Given the description of an element on the screen output the (x, y) to click on. 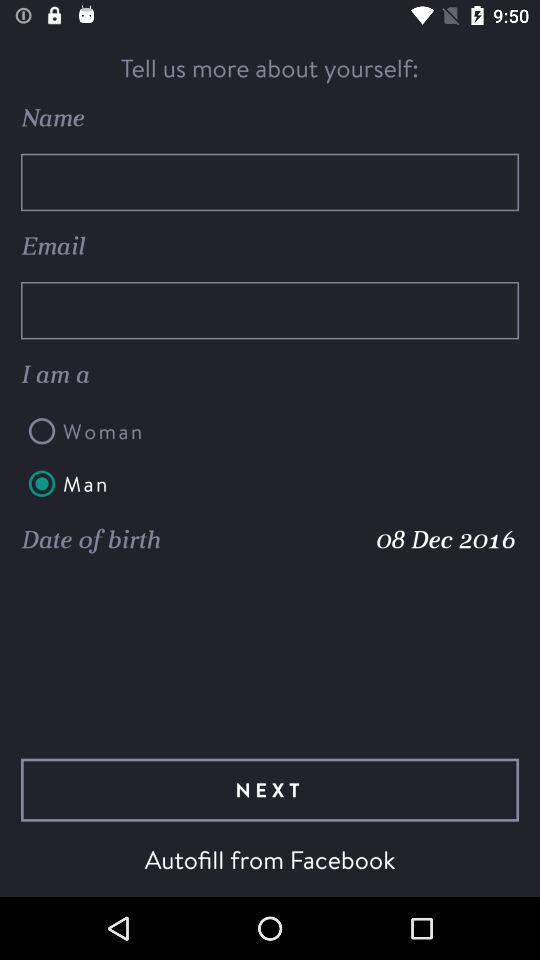
turn off the icon below date of birth item (270, 789)
